Given the description of an element on the screen output the (x, y) to click on. 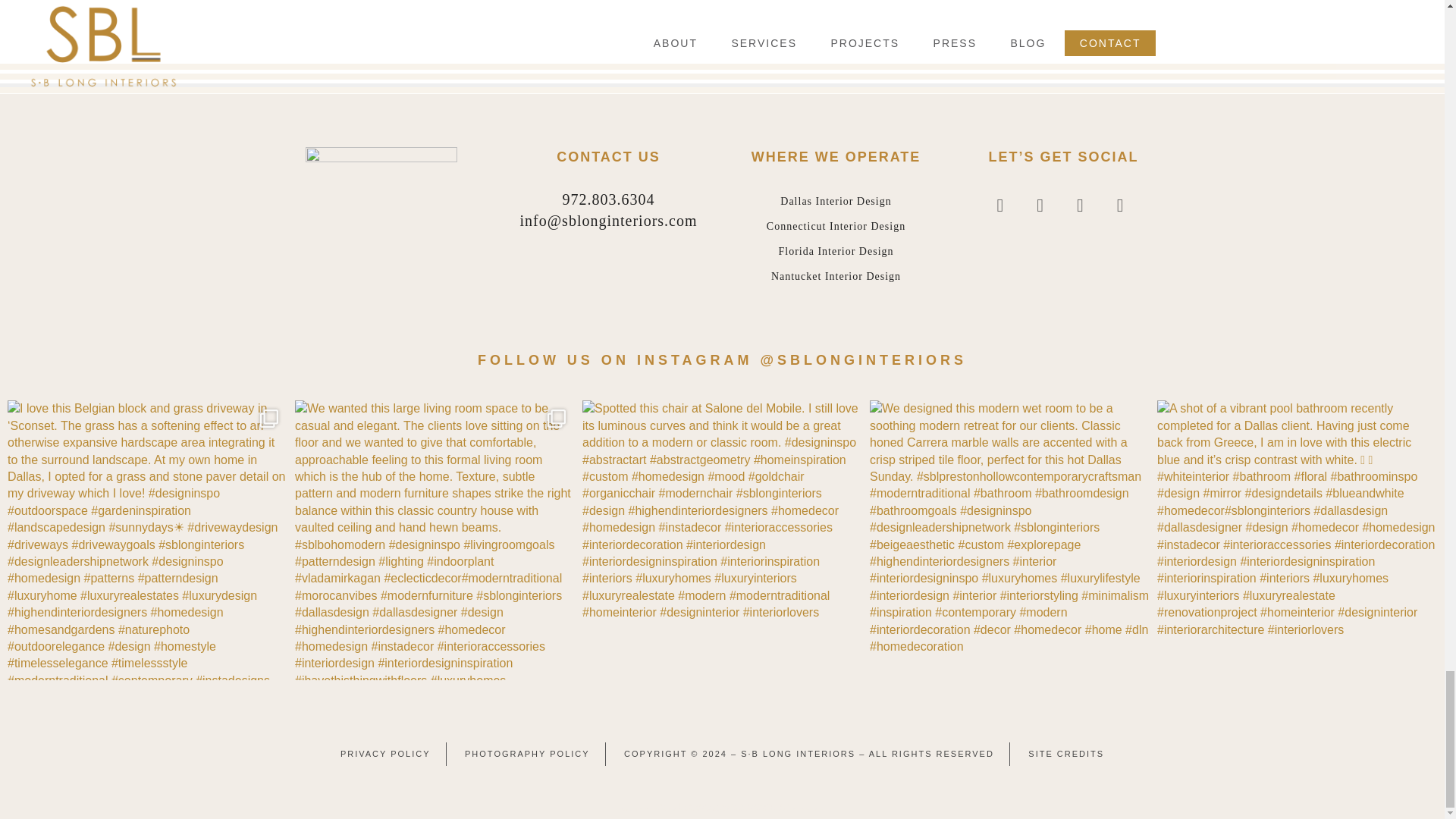
Pinterest (1079, 205)
Houzz (1120, 205)
Facebook (1000, 205)
Instagram (1040, 205)
